Given the description of an element on the screen output the (x, y) to click on. 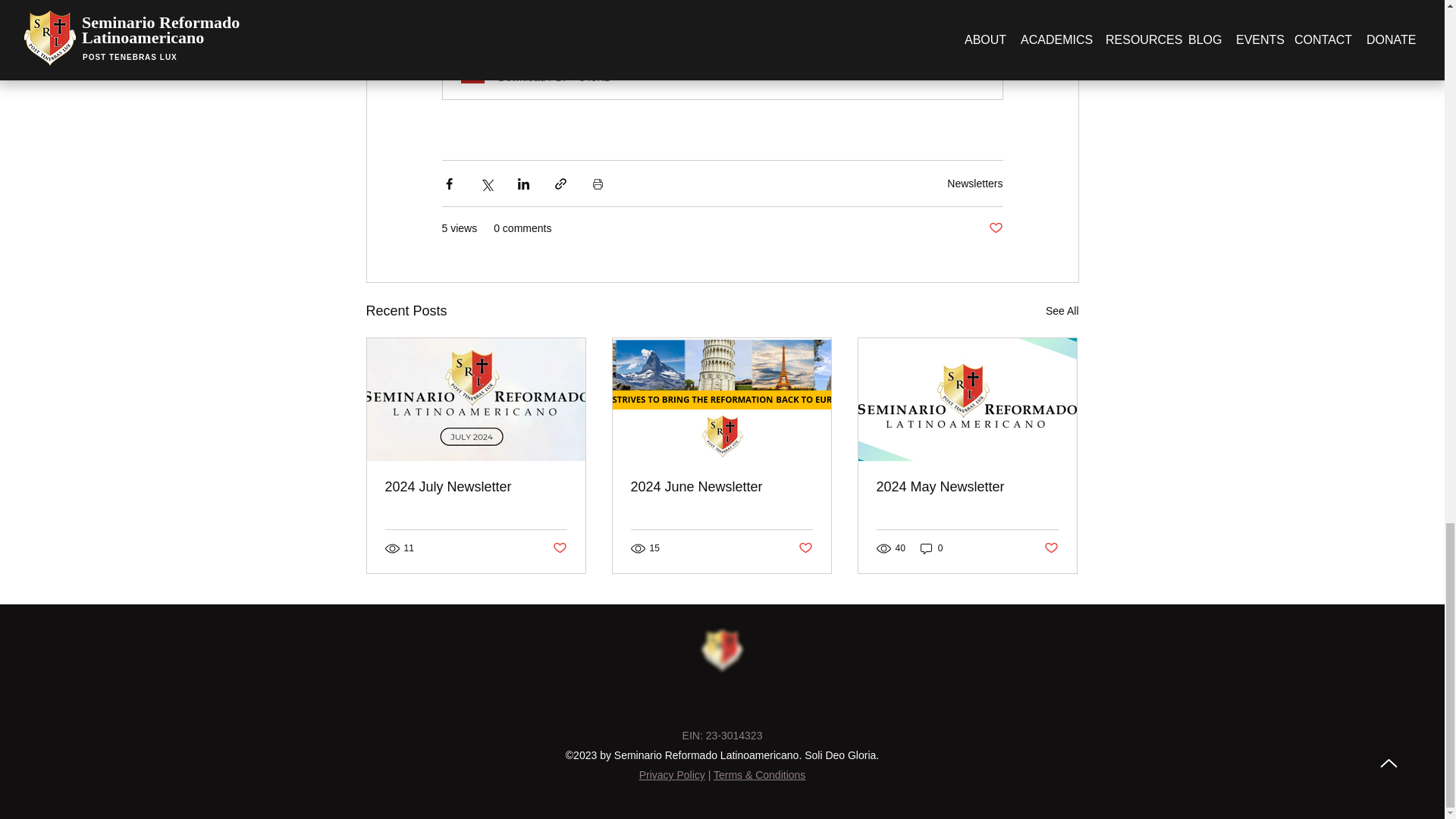
Newsletters (975, 183)
